Given the description of an element on the screen output the (x, y) to click on. 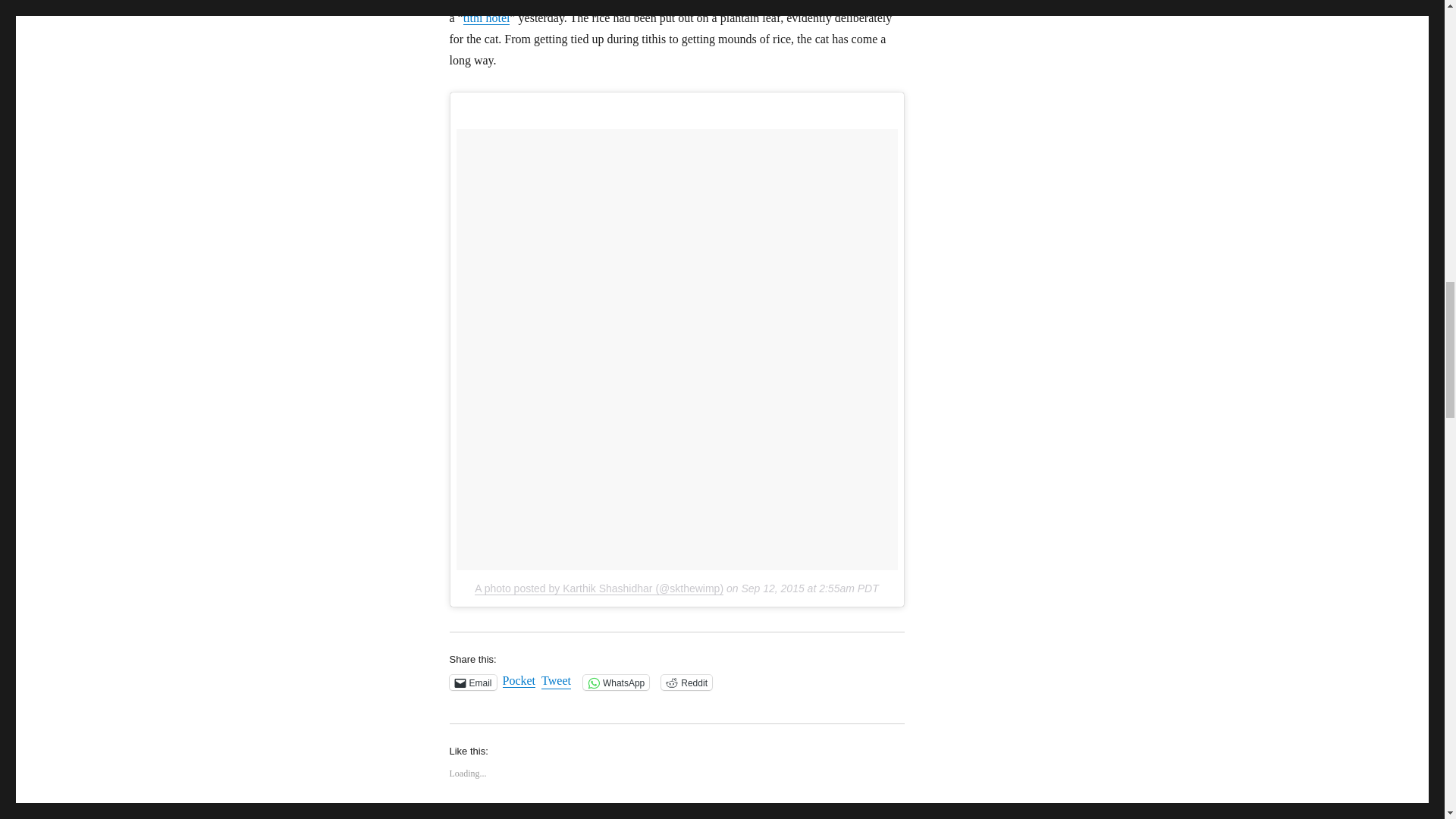
tithi hotel (487, 17)
Pocket (518, 680)
Click to share on WhatsApp (616, 682)
Click to email a link to a friend (472, 682)
Tweet (555, 681)
Click to share on Reddit (686, 682)
Email (472, 682)
WhatsApp (616, 682)
Reddit (686, 682)
